Given the description of an element on the screen output the (x, y) to click on. 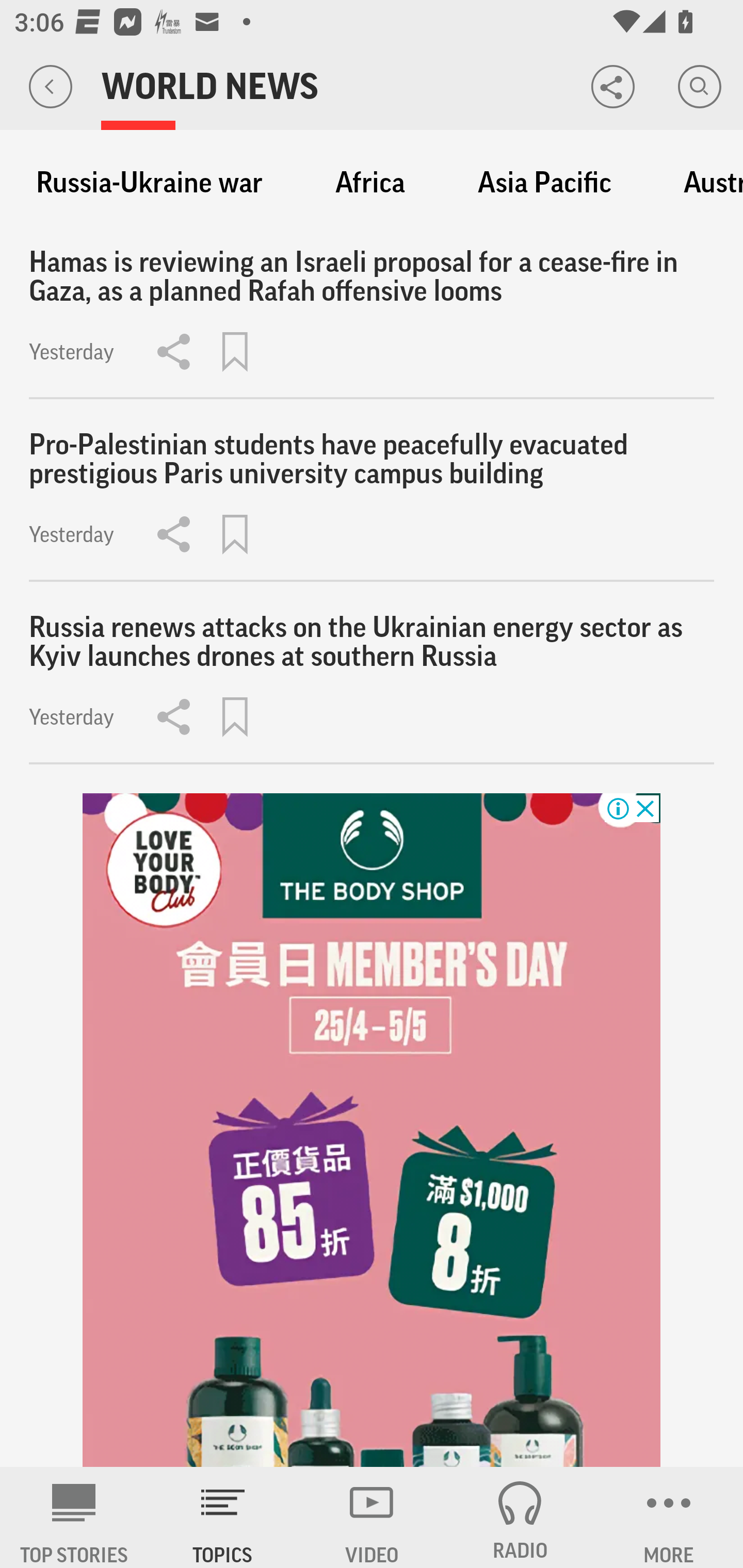
Russia-Ukraine war (148, 182)
Africa (370, 182)
Asia Pacific (544, 182)
AP News TOP STORIES (74, 1517)
TOPICS (222, 1517)
VIDEO (371, 1517)
RADIO (519, 1517)
MORE (668, 1517)
